Given the description of an element on the screen output the (x, y) to click on. 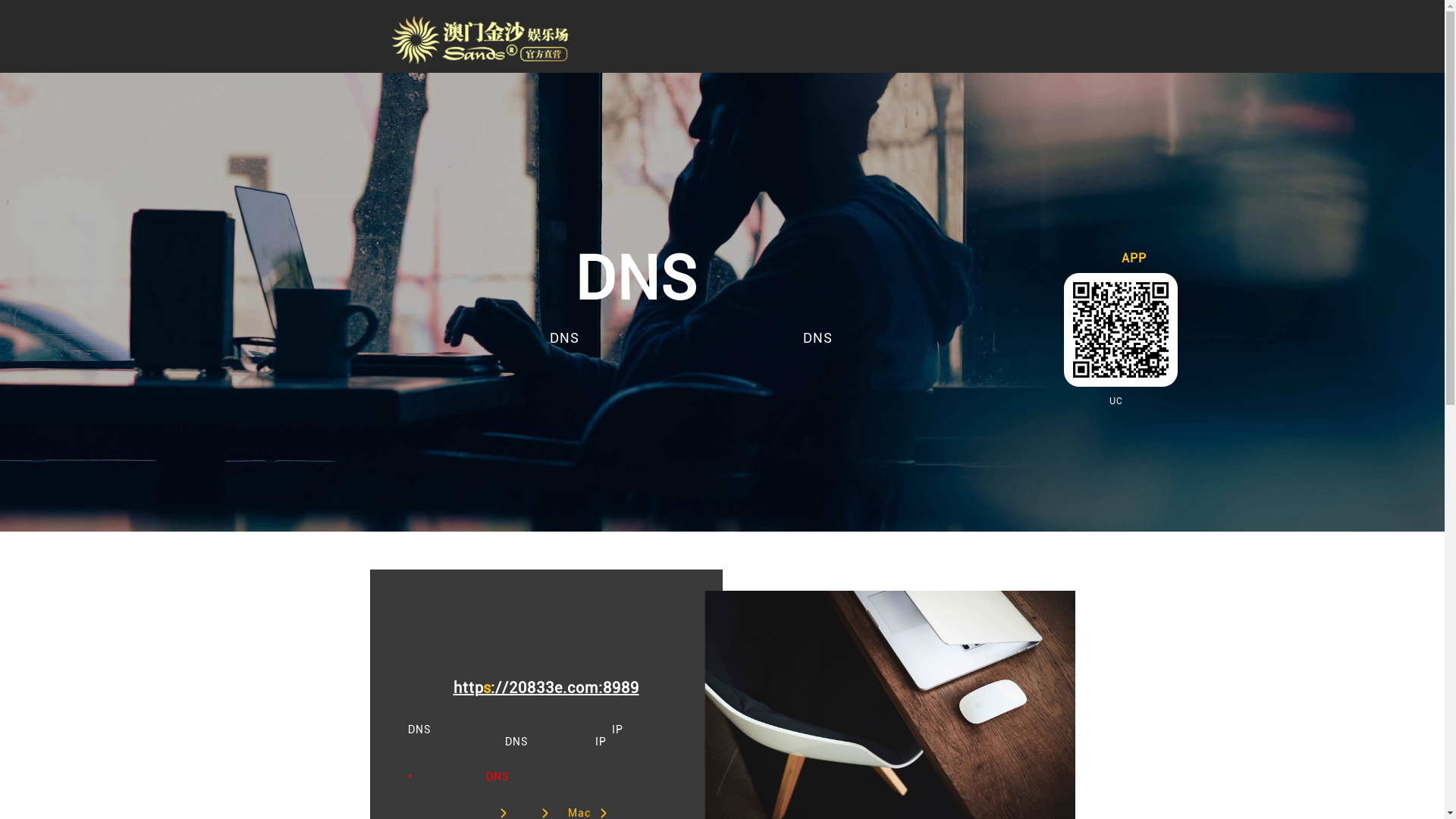
http s ://20833e.com:8989 Element type: text (546, 687)
